Given the description of an element on the screen output the (x, y) to click on. 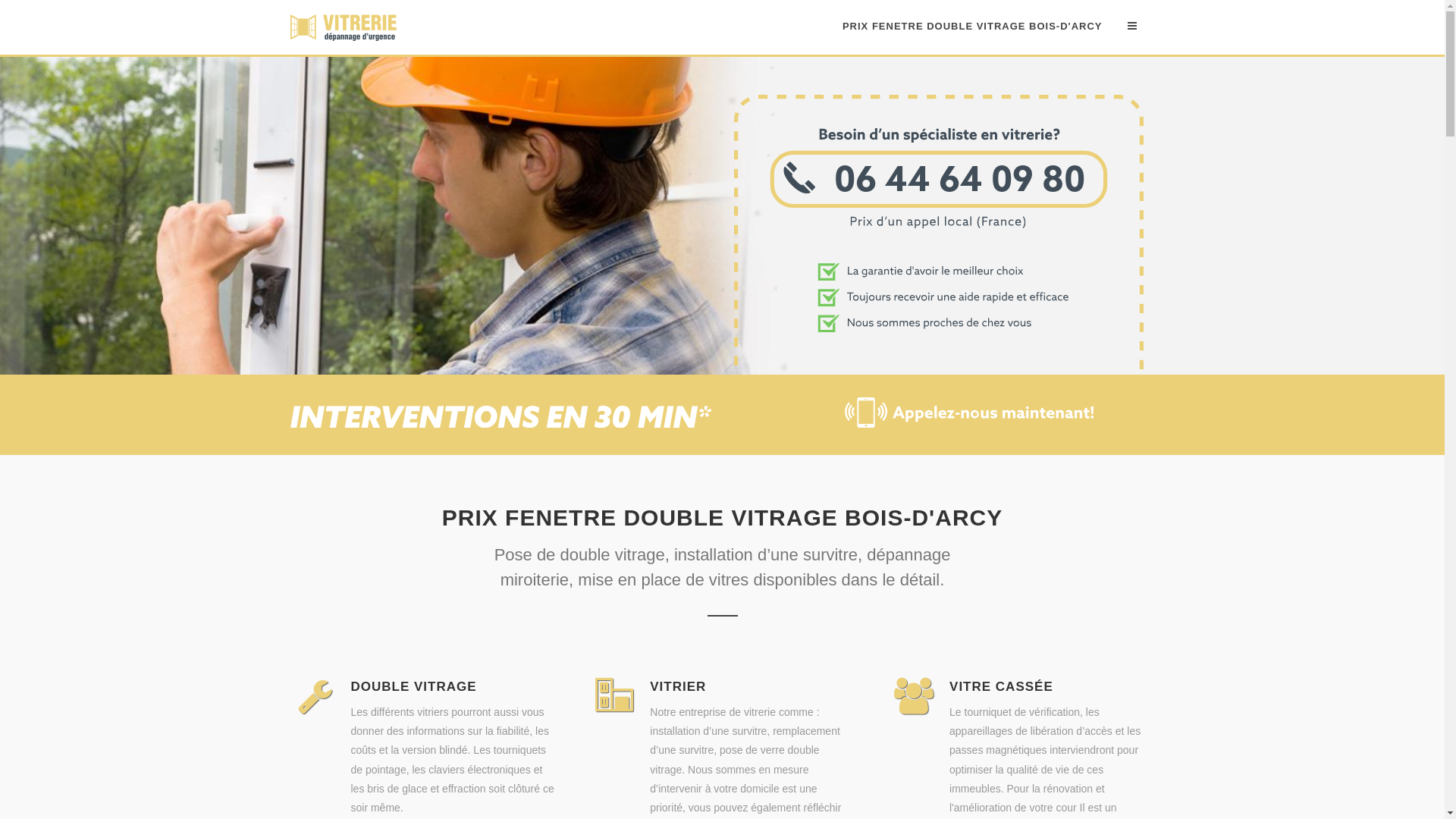
VITRIER Element type: text (677, 686)
DOUBLE VITRAGE Element type: text (413, 686)
PRIX FENETRE DOUBLE VITRAGE BOIS-D'ARCY Element type: text (972, 26)
06 44 64 09 80 Element type: text (938, 366)
